Given the description of an element on the screen output the (x, y) to click on. 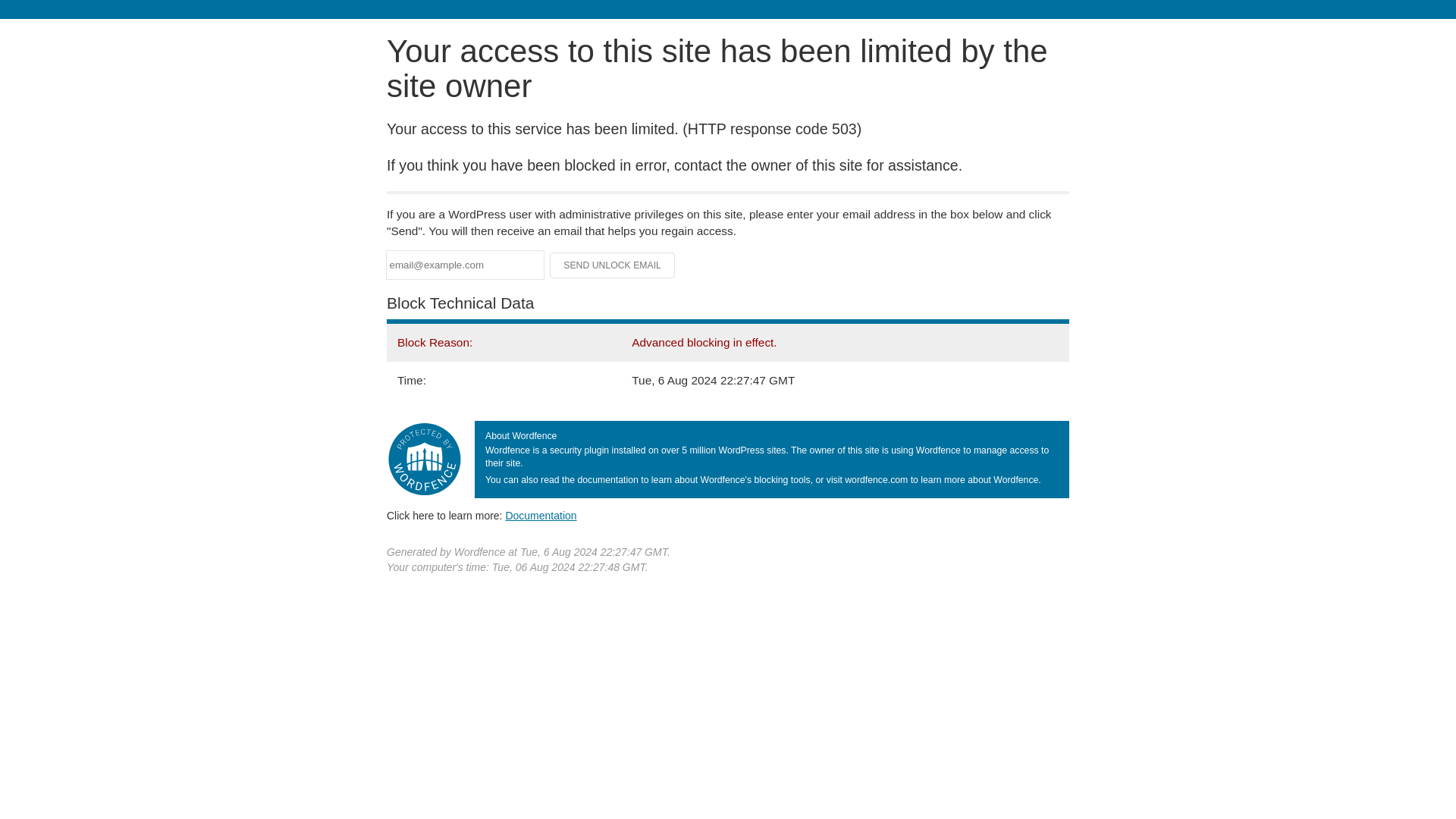
Documentation (540, 515)
Send Unlock Email (612, 265)
Send Unlock Email (612, 265)
